Given the description of an element on the screen output the (x, y) to click on. 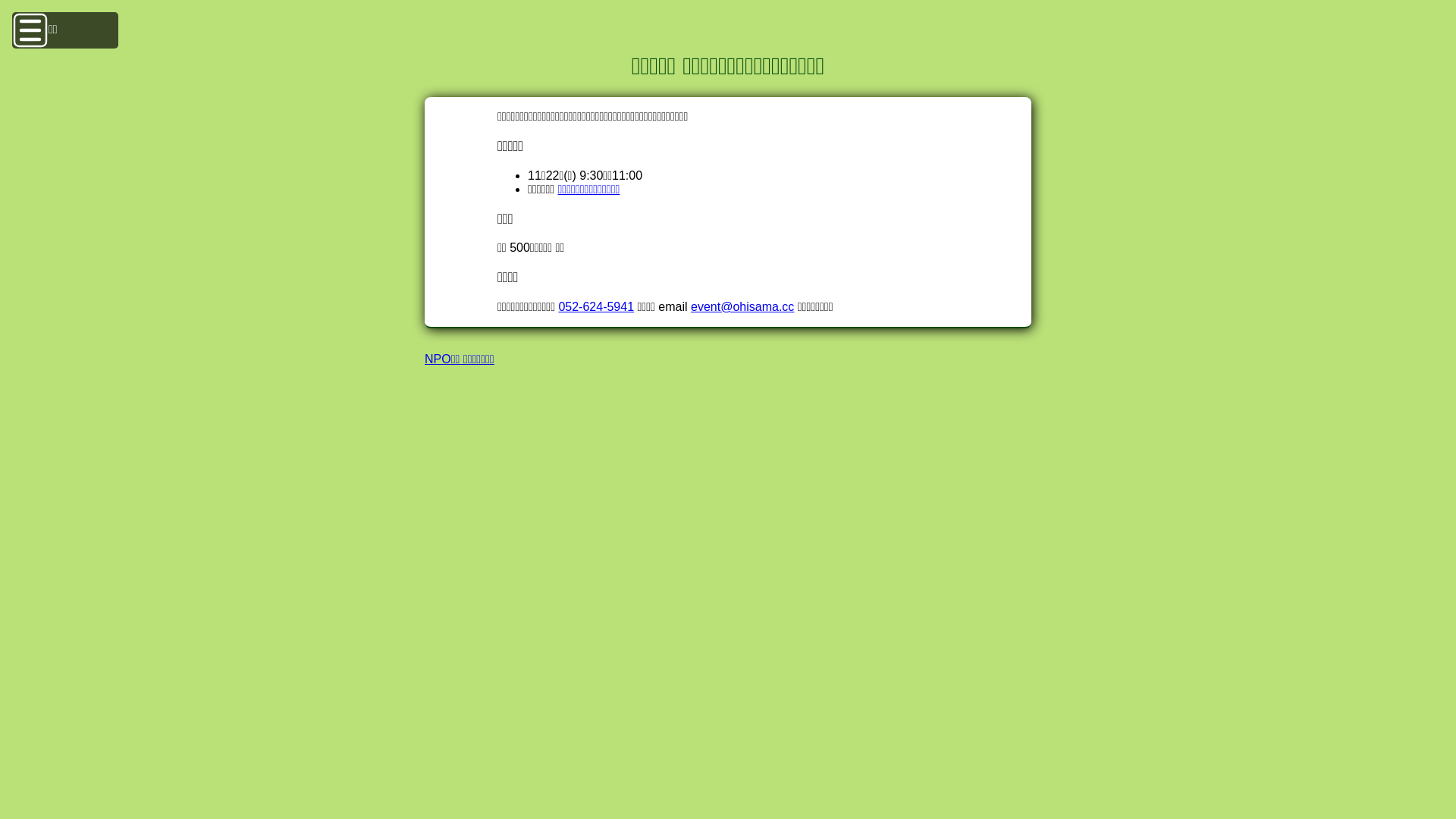
event@ohisama.cc Element type: text (741, 306)
052-624-5941 Element type: text (595, 306)
